Given the description of an element on the screen output the (x, y) to click on. 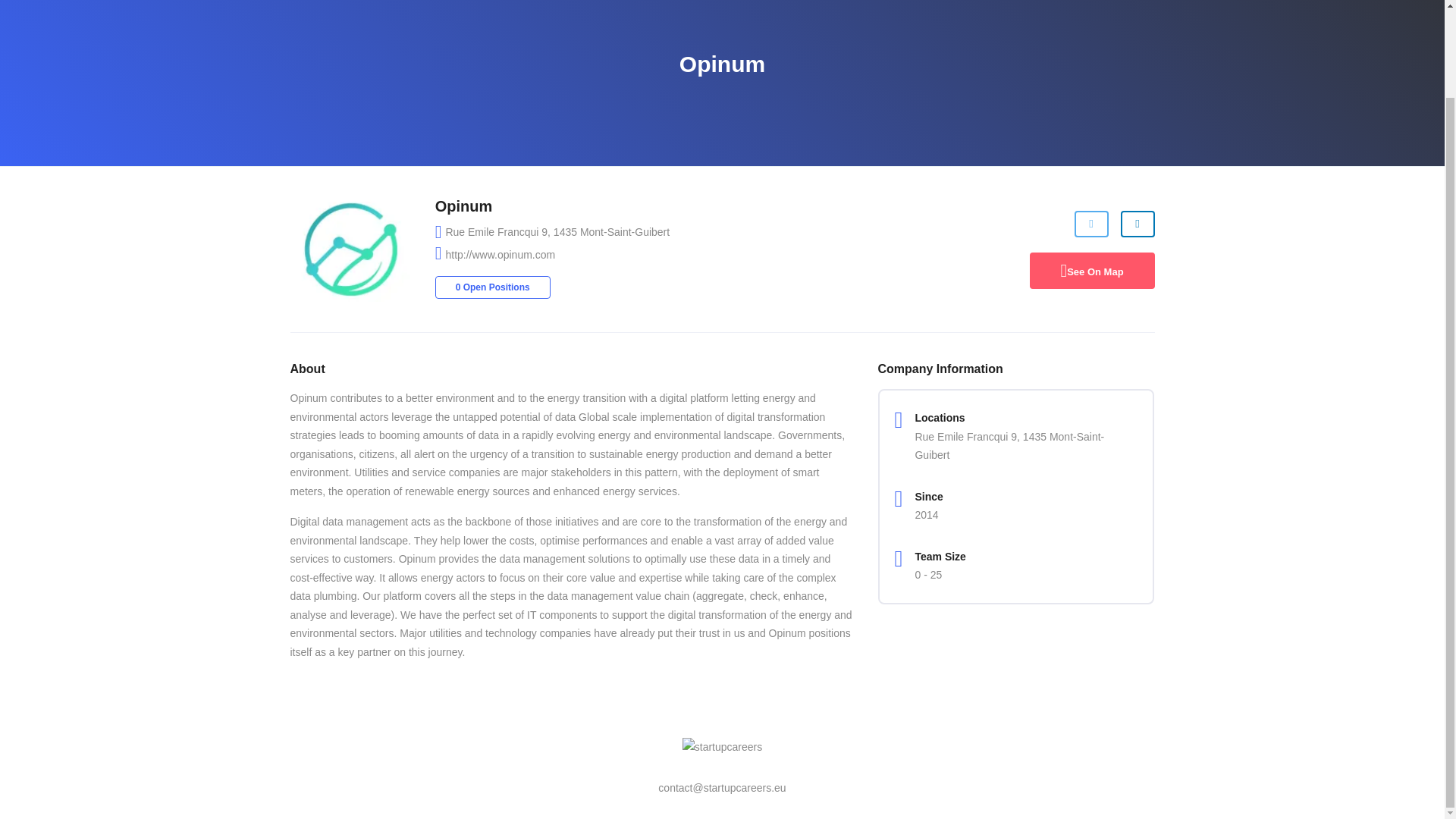
Rue Emile Francqui 9, 1435 Mont-Saint-Guibert (557, 233)
